Given the description of an element on the screen output the (x, y) to click on. 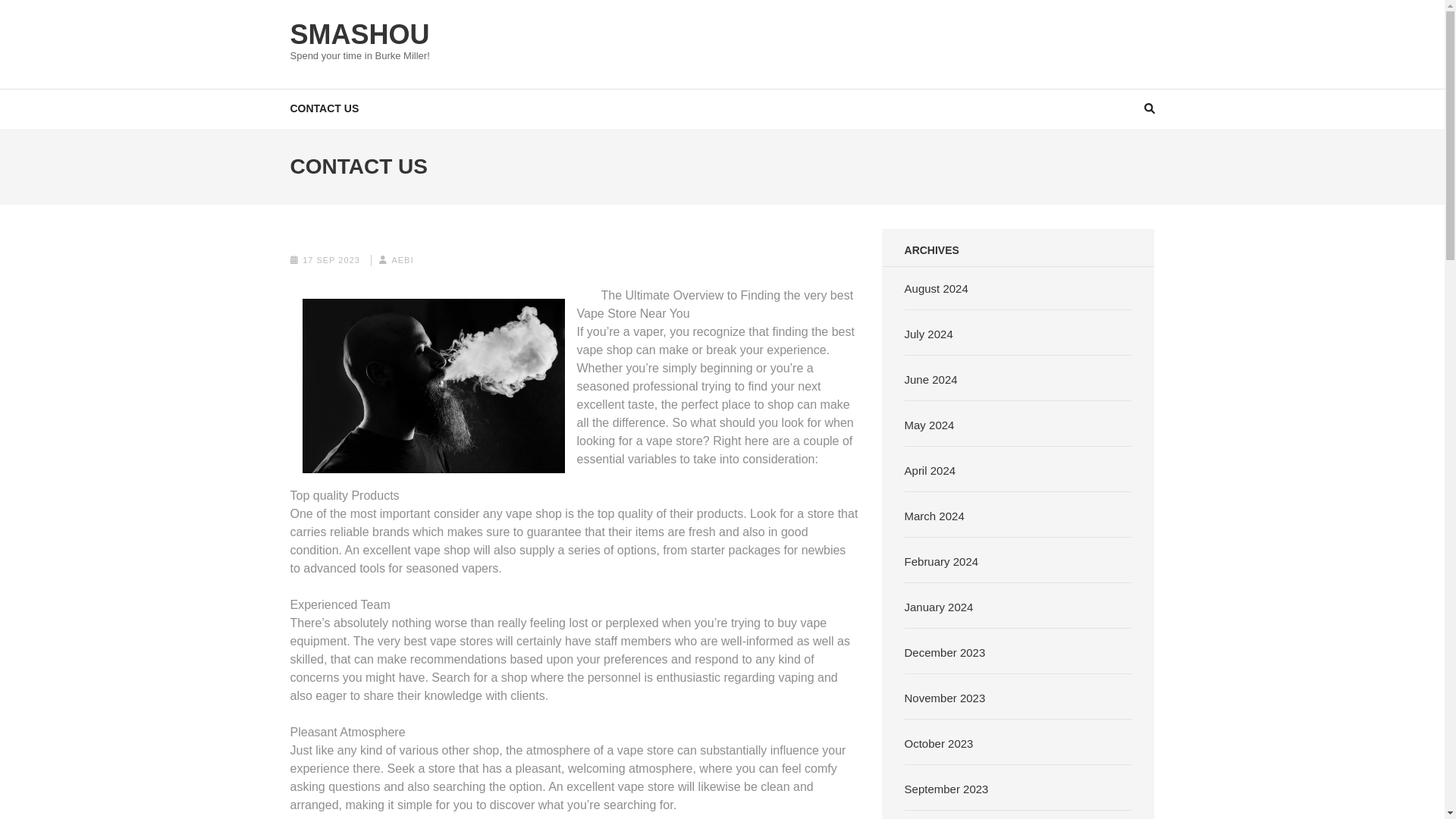
May 2024 (929, 424)
February 2024 (941, 561)
December 2023 (944, 652)
CONTACT US (323, 108)
17 SEP 2023 (330, 258)
March 2024 (933, 515)
July 2024 (928, 333)
September 2023 (946, 788)
June 2024 (931, 379)
AEBI (402, 258)
